Given the description of an element on the screen output the (x, y) to click on. 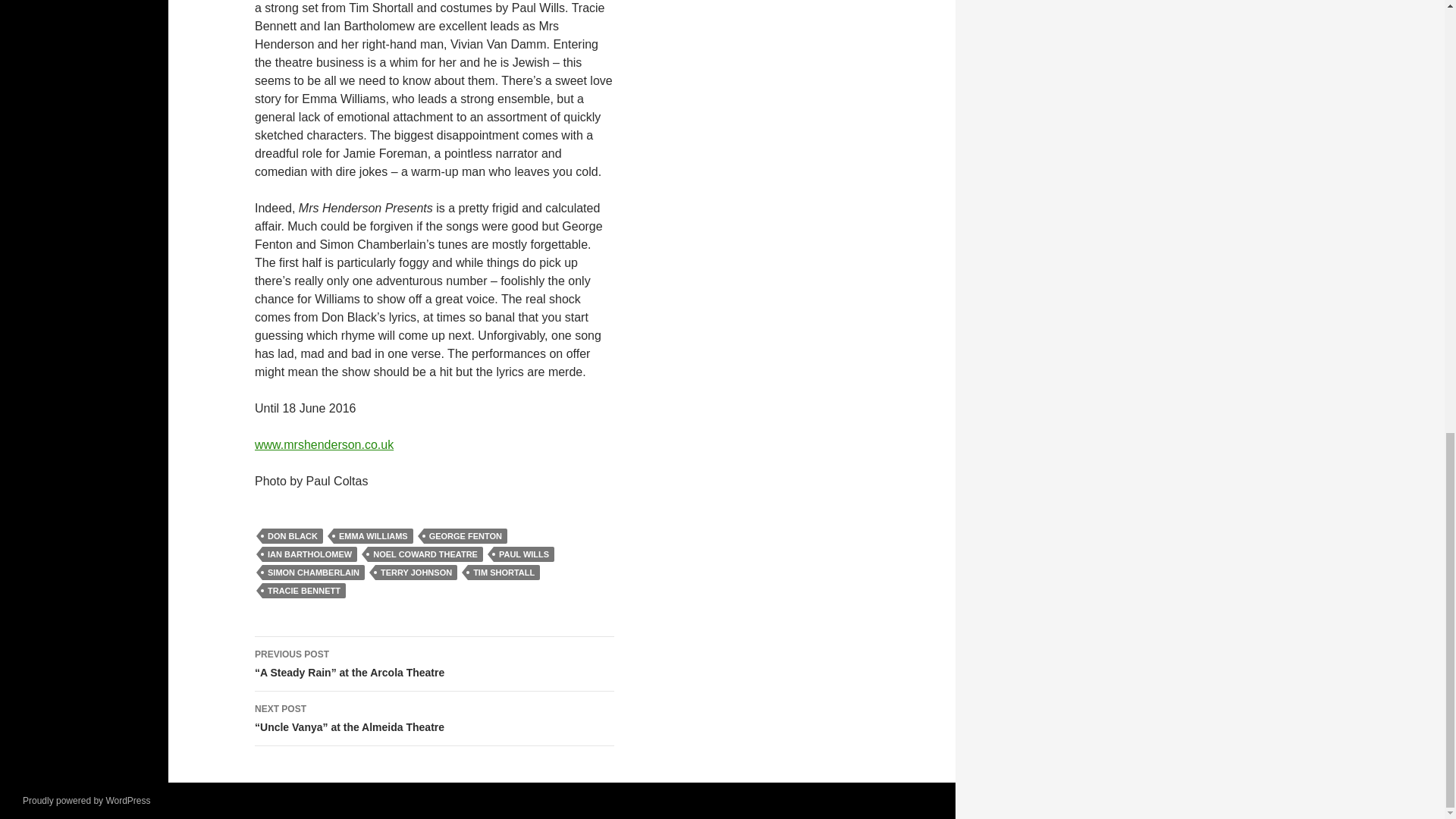
GEORGE FENTON (464, 535)
TIM SHORTALL (503, 572)
IAN BARTHOLOMEW (309, 554)
www.mrshenderson.co.uk (323, 444)
TERRY JOHNSON (416, 572)
NOEL COWARD THEATRE (425, 554)
DON BLACK (292, 535)
EMMA WILLIAMS (373, 535)
PAUL WILLS (523, 554)
SIMON CHAMBERLAIN (313, 572)
